Given the description of an element on the screen output the (x, y) to click on. 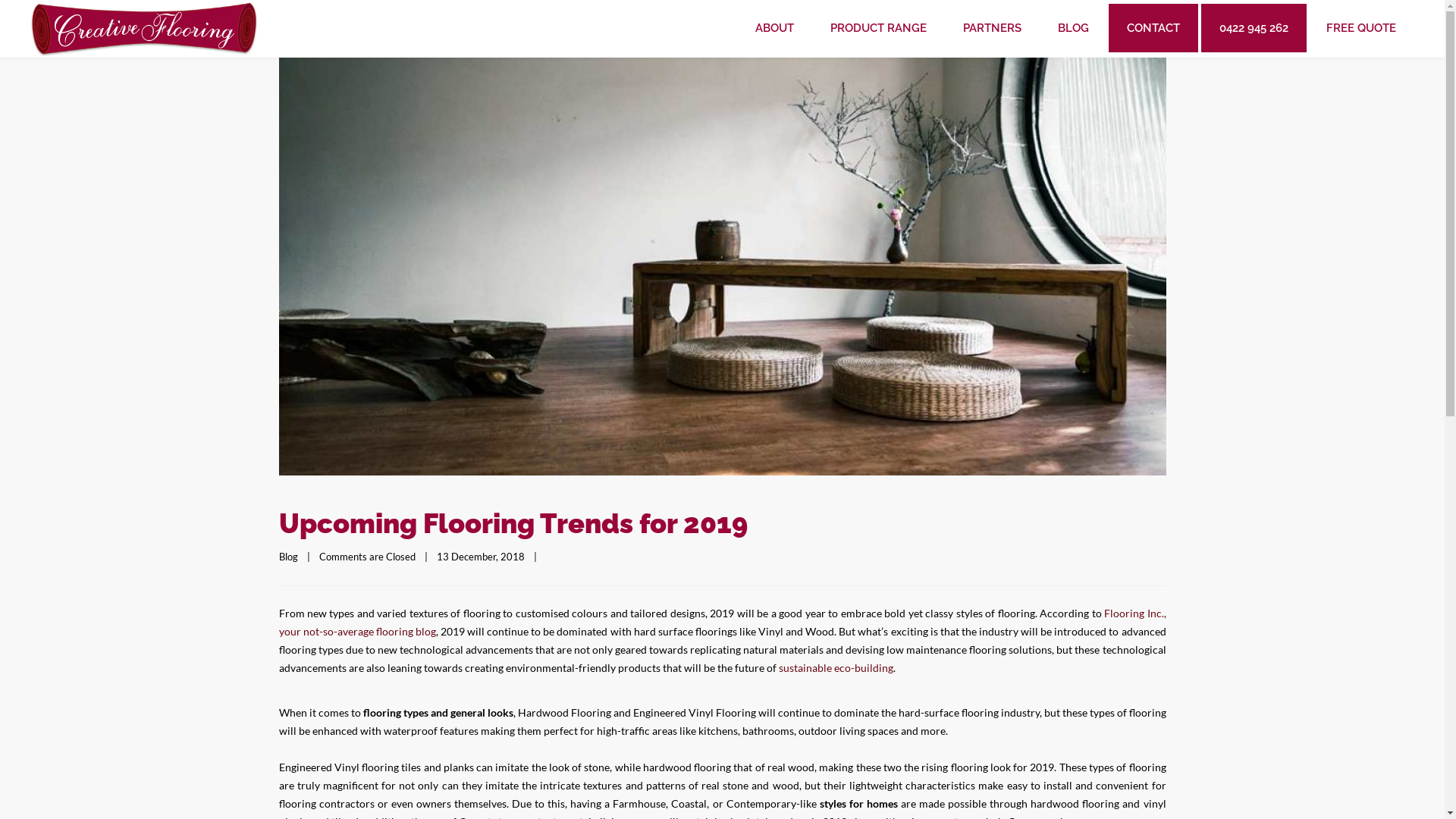
ABOUT Element type: text (774, 27)
sustainable eco-building Element type: text (835, 667)
0422 945 262 Element type: text (1253, 27)
PARTNERS Element type: text (991, 27)
Creative Flooring Element type: hover (143, 29)
PRODUCT RANGE Element type: text (878, 27)
BLOG Element type: text (1073, 27)
Upcoming Flooring Trends for 2019 Element type: text (513, 523)
Flooring Inc., your not-so-average flooring blog Element type: text (722, 621)
Blog Element type: text (288, 556)
CONTACT Element type: text (1153, 27)
FREE QUOTE Element type: text (1361, 27)
